Given the description of an element on the screen output the (x, y) to click on. 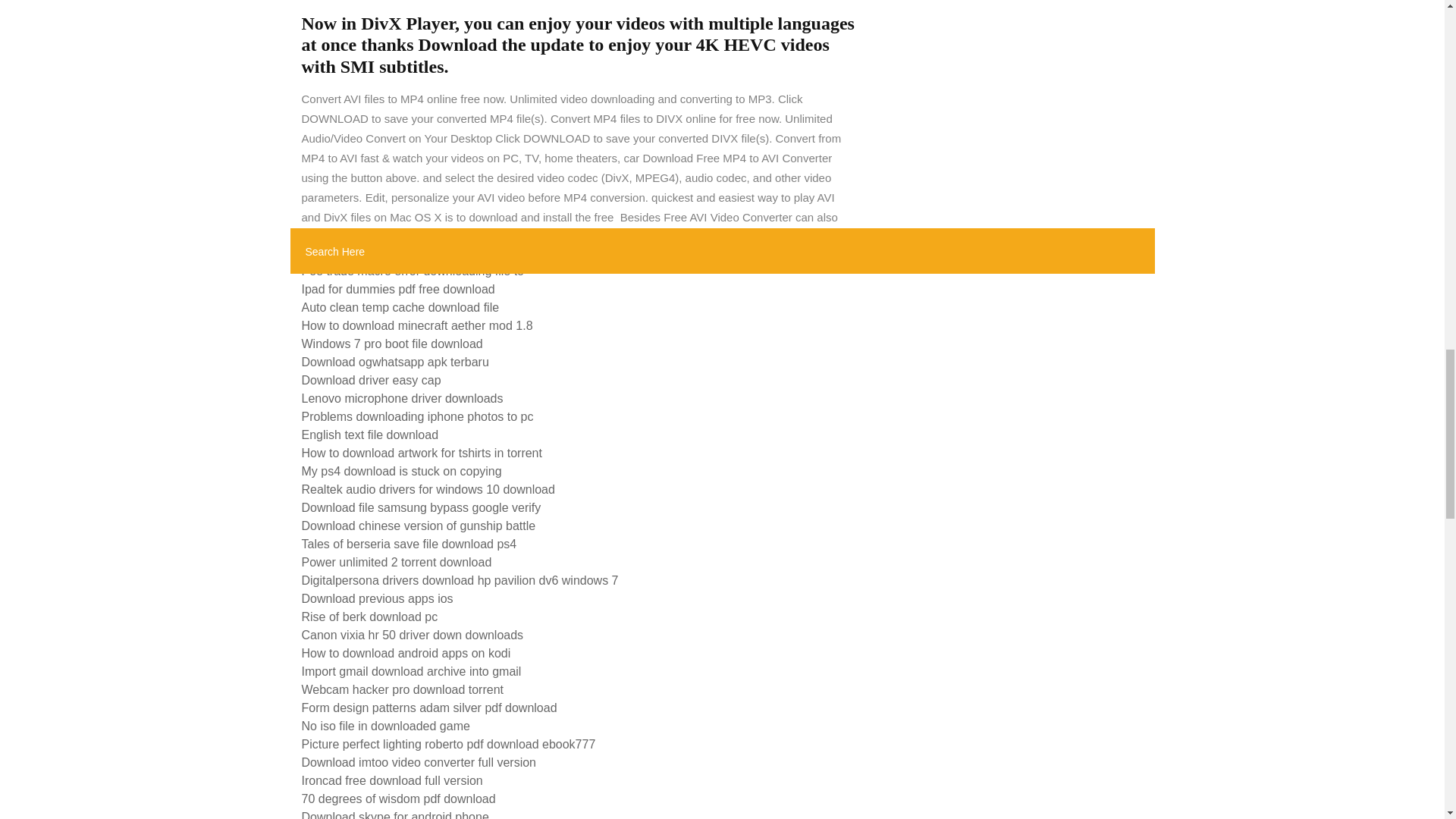
Ipad for dummies pdf free download (398, 288)
Download previous apps ios (376, 598)
Poe trade macro error downloading file to (412, 270)
Download chinese version of gunship battle (418, 525)
Download driver easy cap (371, 379)
How to download artwork for tshirts in torrent (421, 452)
Canon vixia hr 50 driver down downloads (412, 634)
English text file download (370, 434)
Rise of berk download pc (369, 616)
Problems downloading iphone photos to pc (417, 416)
My ps4 download is stuck on copying (401, 471)
How to download minecraft aether mod 1.8 (416, 325)
Auto clean temp cache download file (400, 307)
Power unlimited 2 torrent download (396, 562)
Lenovo microphone driver downloads (402, 398)
